Given the description of an element on the screen output the (x, y) to click on. 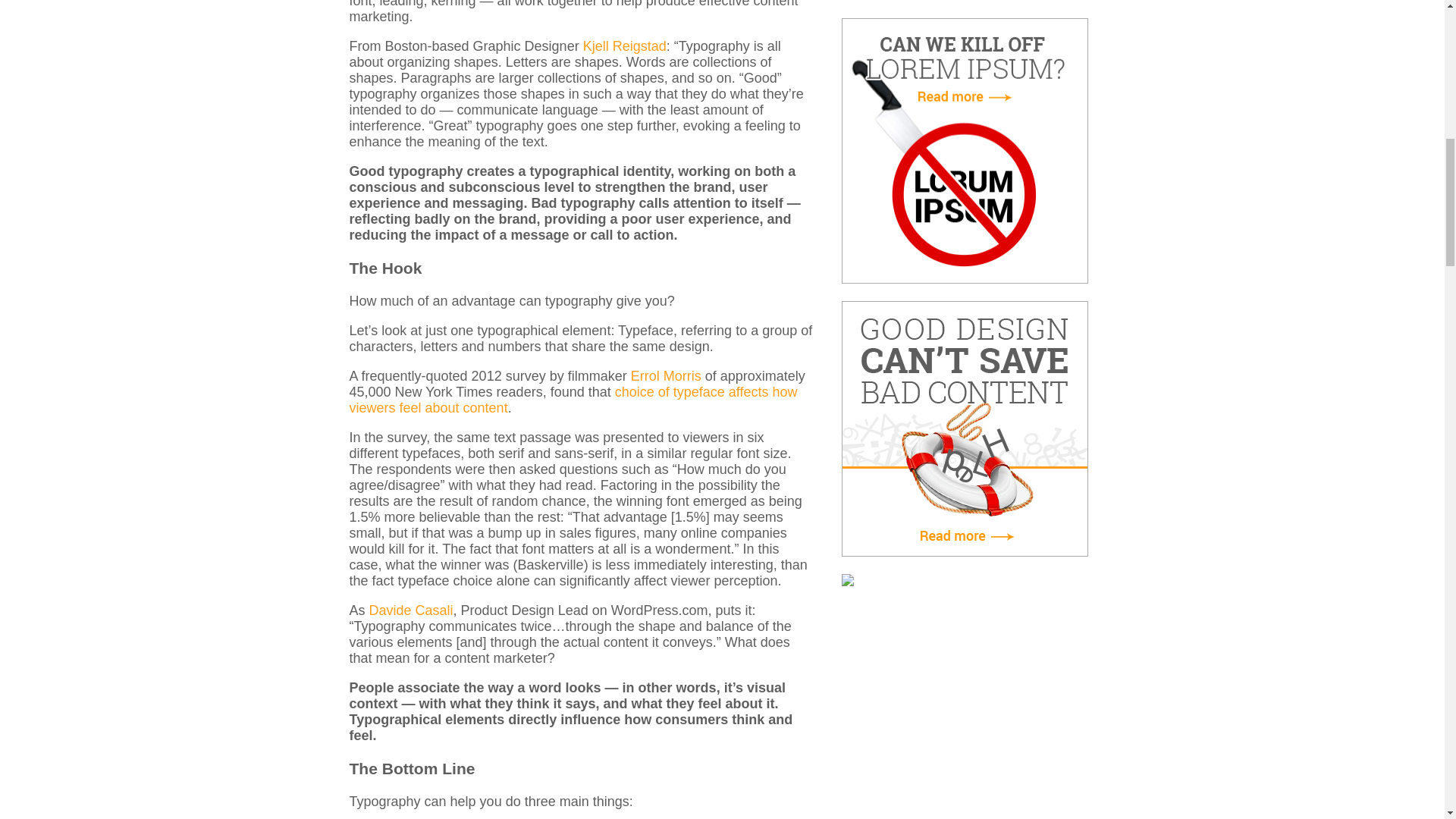
Errol Morris (665, 376)
Davide Casali (410, 610)
choice of typeface affects how viewers feel about content (572, 399)
Kjell Reigstad (624, 46)
